Given the description of an element on the screen output the (x, y) to click on. 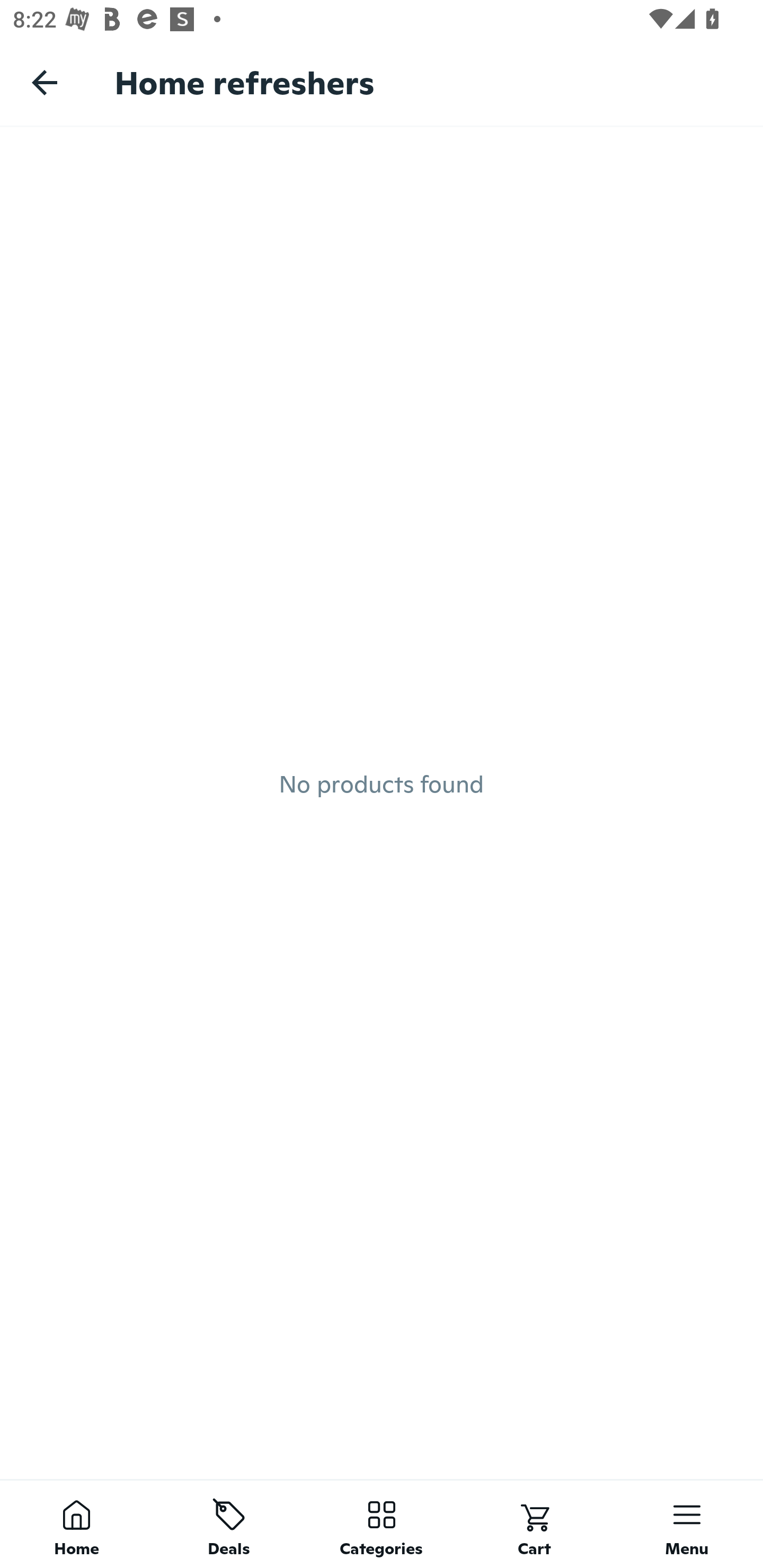
Navigate up (44, 82)
Home (76, 1523)
Deals (228, 1523)
Categories (381, 1523)
Cart (533, 1523)
Menu (686, 1523)
